Given the description of an element on the screen output the (x, y) to click on. 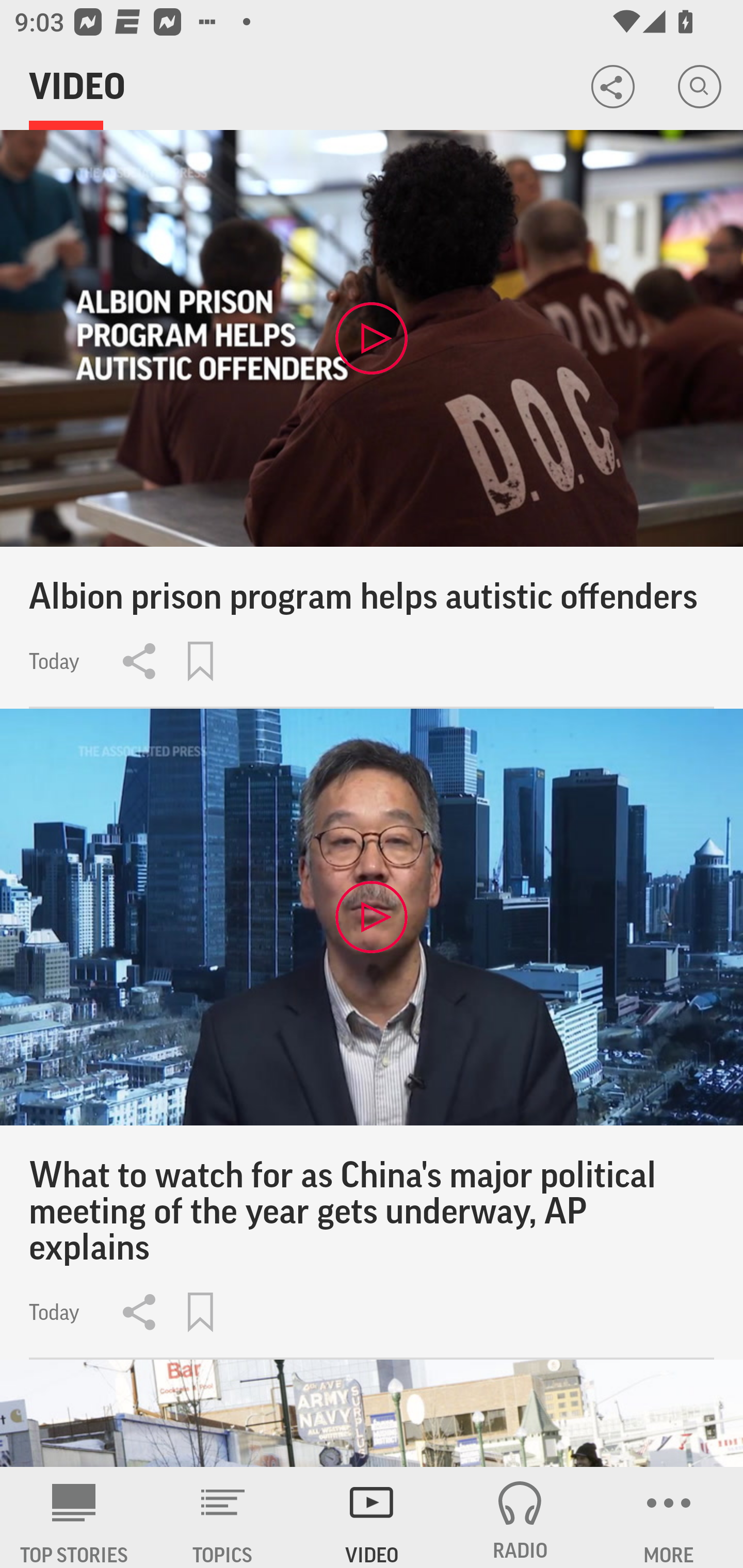
AP News TOP STORIES (74, 1517)
TOPICS (222, 1517)
VIDEO (371, 1517)
RADIO (519, 1517)
MORE (668, 1517)
